Given the description of an element on the screen output the (x, y) to click on. 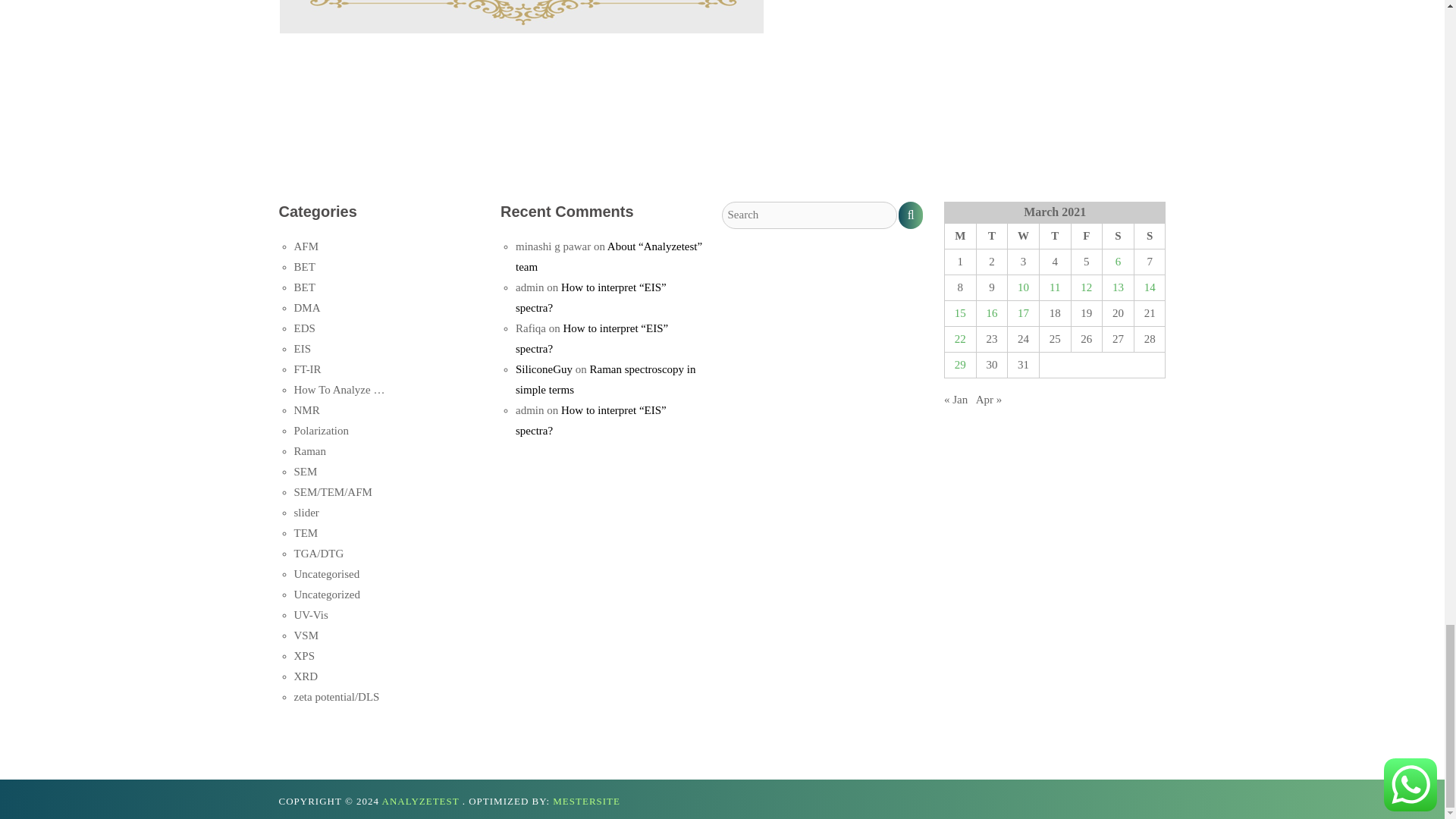
Mestersite (586, 800)
Saturday (1118, 236)
Tuesday (991, 236)
Wednesday (1023, 236)
Sunday (1150, 236)
Friday (1086, 236)
Monday (959, 236)
Thursday (1054, 236)
